Given the description of an element on the screen output the (x, y) to click on. 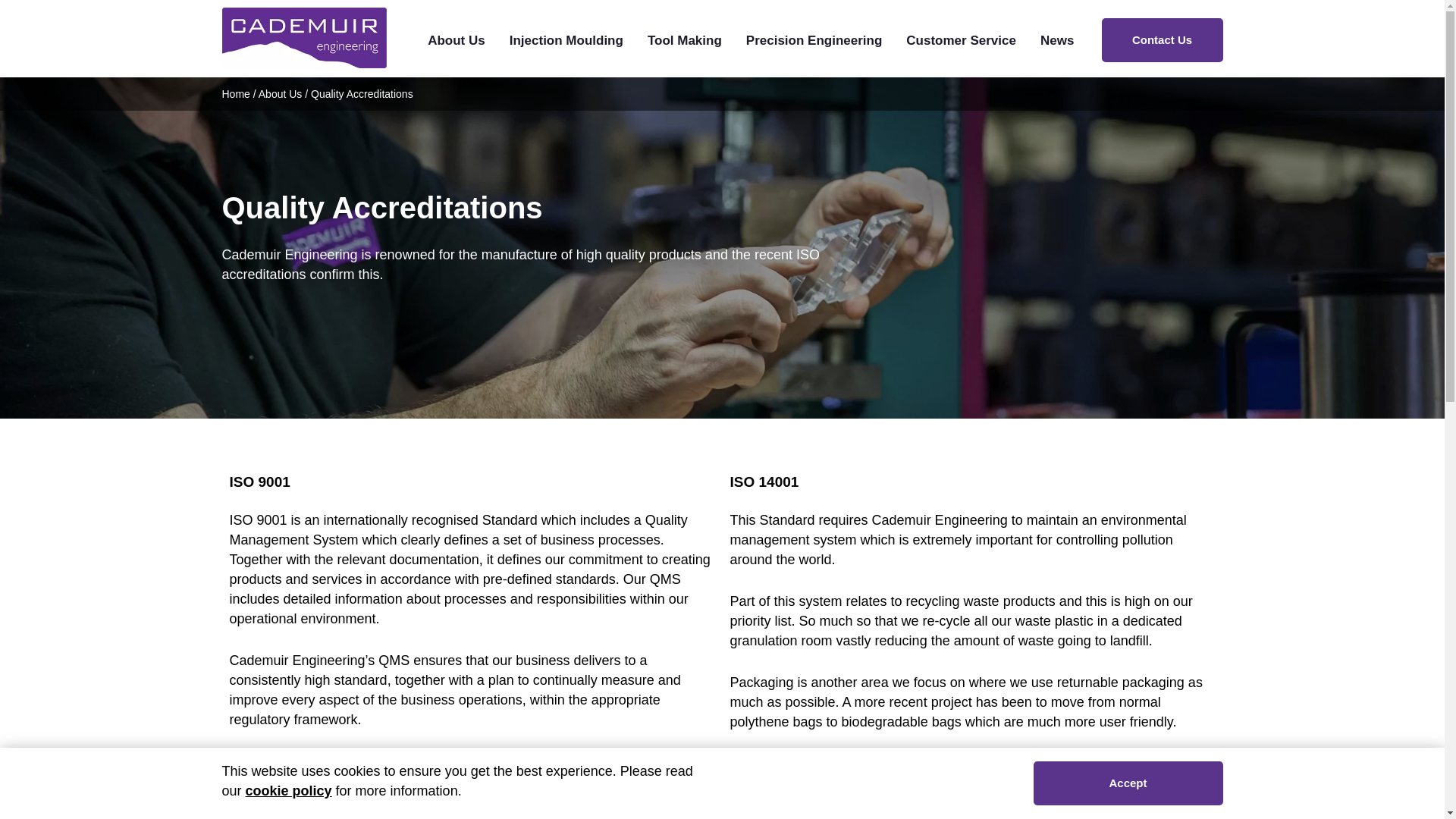
Injection Moulding (566, 40)
About Us (456, 40)
Home (234, 93)
About Us (280, 93)
Tool Making (684, 40)
Precision Engineering (813, 40)
Customer Service (960, 40)
Contact Us (1161, 40)
